Given the description of an element on the screen output the (x, y) to click on. 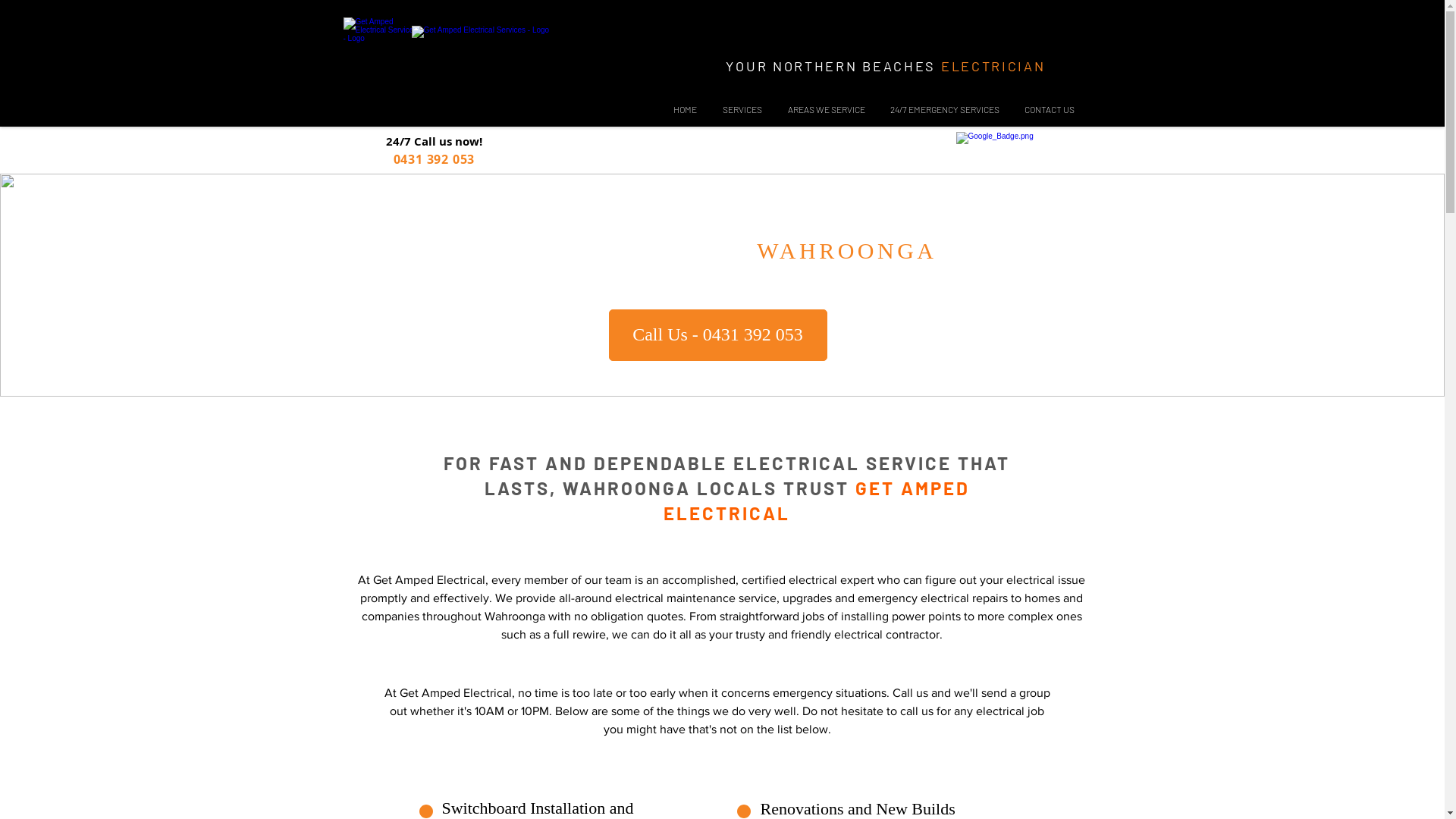
0431 392 053 Element type: text (434, 157)
SERVICES Element type: text (742, 109)
HOME Element type: text (684, 109)
24/7 EMERGENCY SERVICES Element type: text (945, 109)
24/7 Call us now! Element type: text (433, 139)
CONTACT US Element type: text (1048, 109)
Call Us - 0431 392 053 Element type: text (717, 334)
AREAS WE SERVICE Element type: text (826, 109)
